Given the description of an element on the screen output the (x, y) to click on. 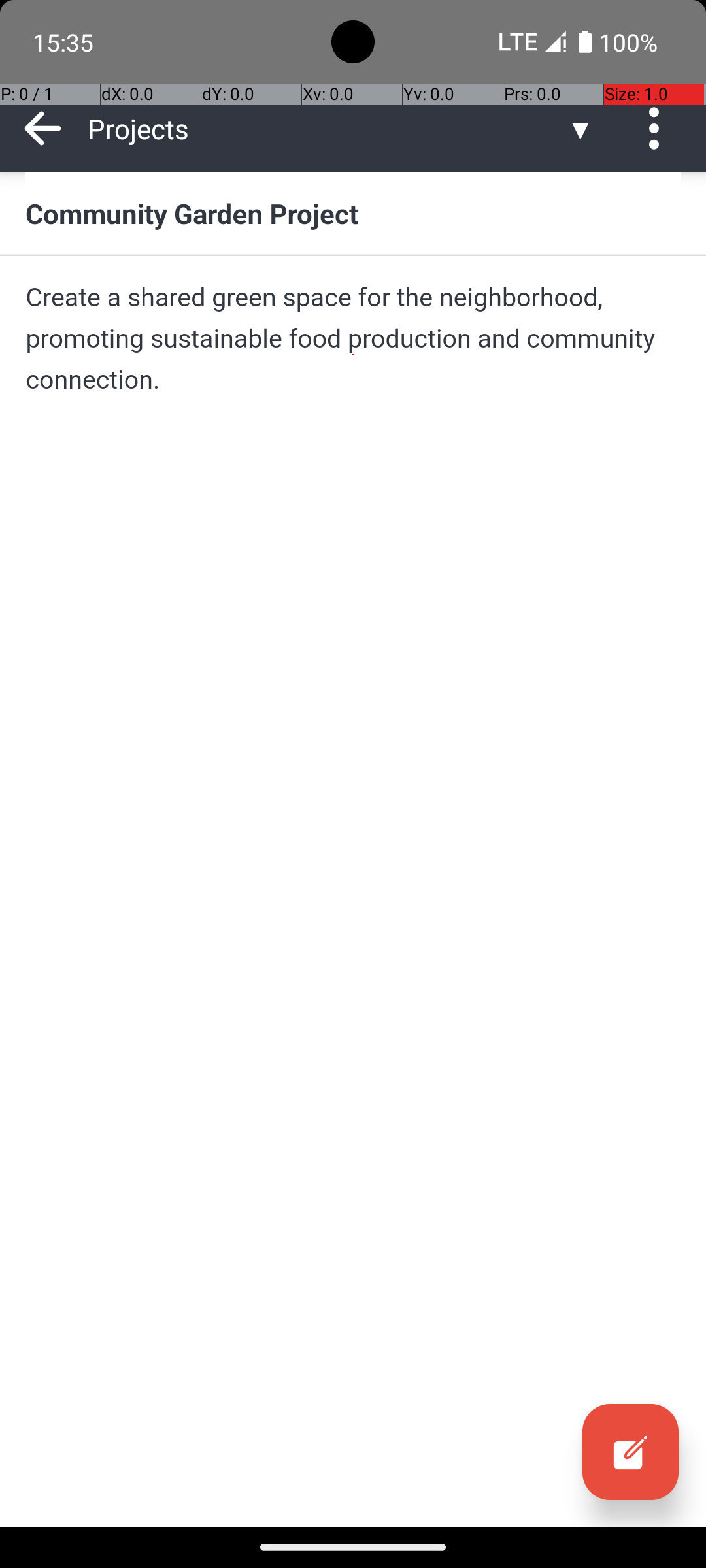
Community Garden Project Element type: android.widget.EditText (352, 213)
Create a shared green space for the neighborhood, promoting sustainable food production and community connection. Element type: android.widget.TextView (352, 337)
